Given the description of an element on the screen output the (x, y) to click on. 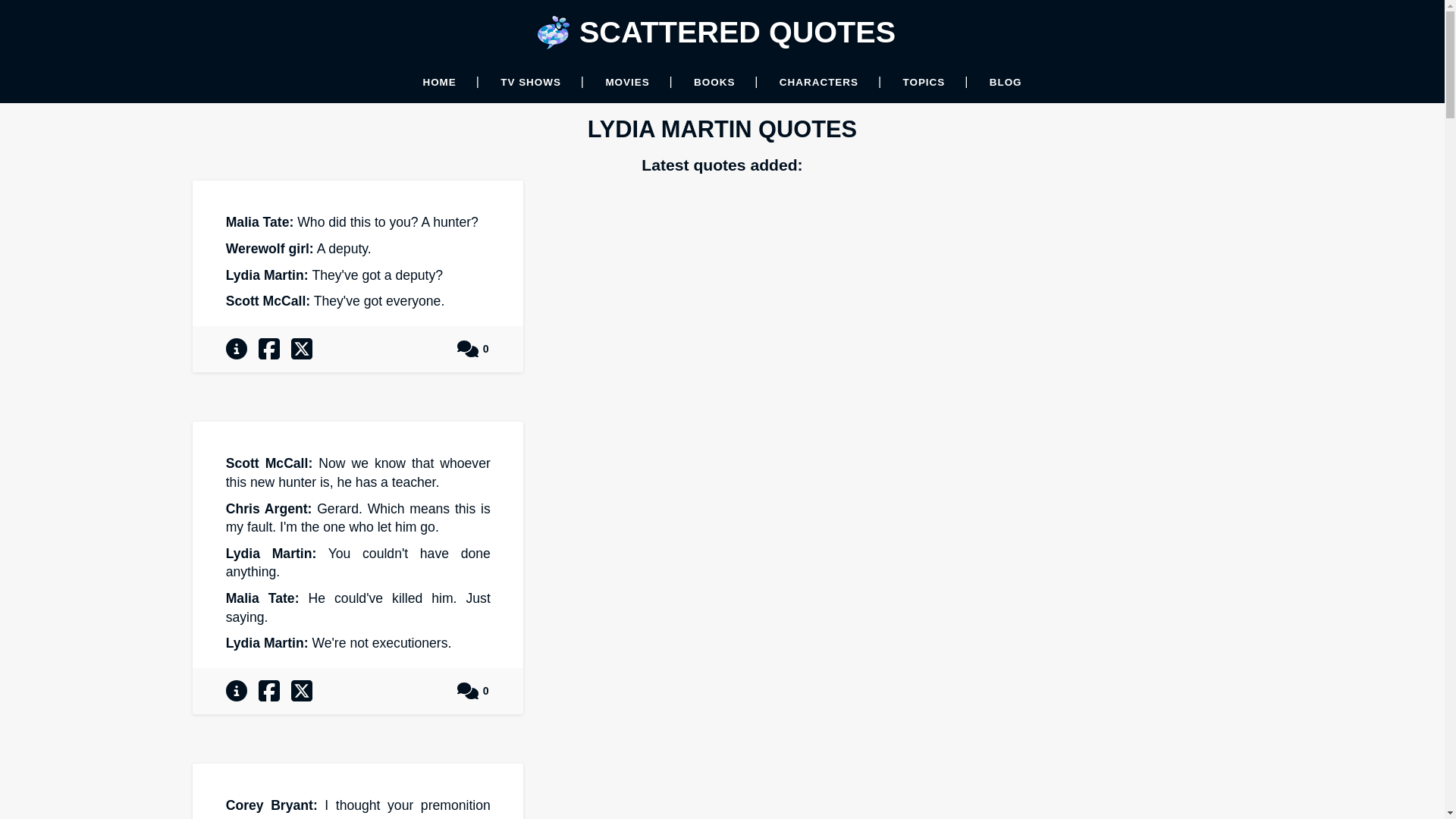
HOME (438, 82)
SCATTERED QUOTES (737, 31)
BOOKS (713, 82)
MOVIES (627, 82)
TOPICS (923, 82)
CHARACTERS (818, 82)
TV SHOWS (530, 82)
